Given the description of an element on the screen output the (x, y) to click on. 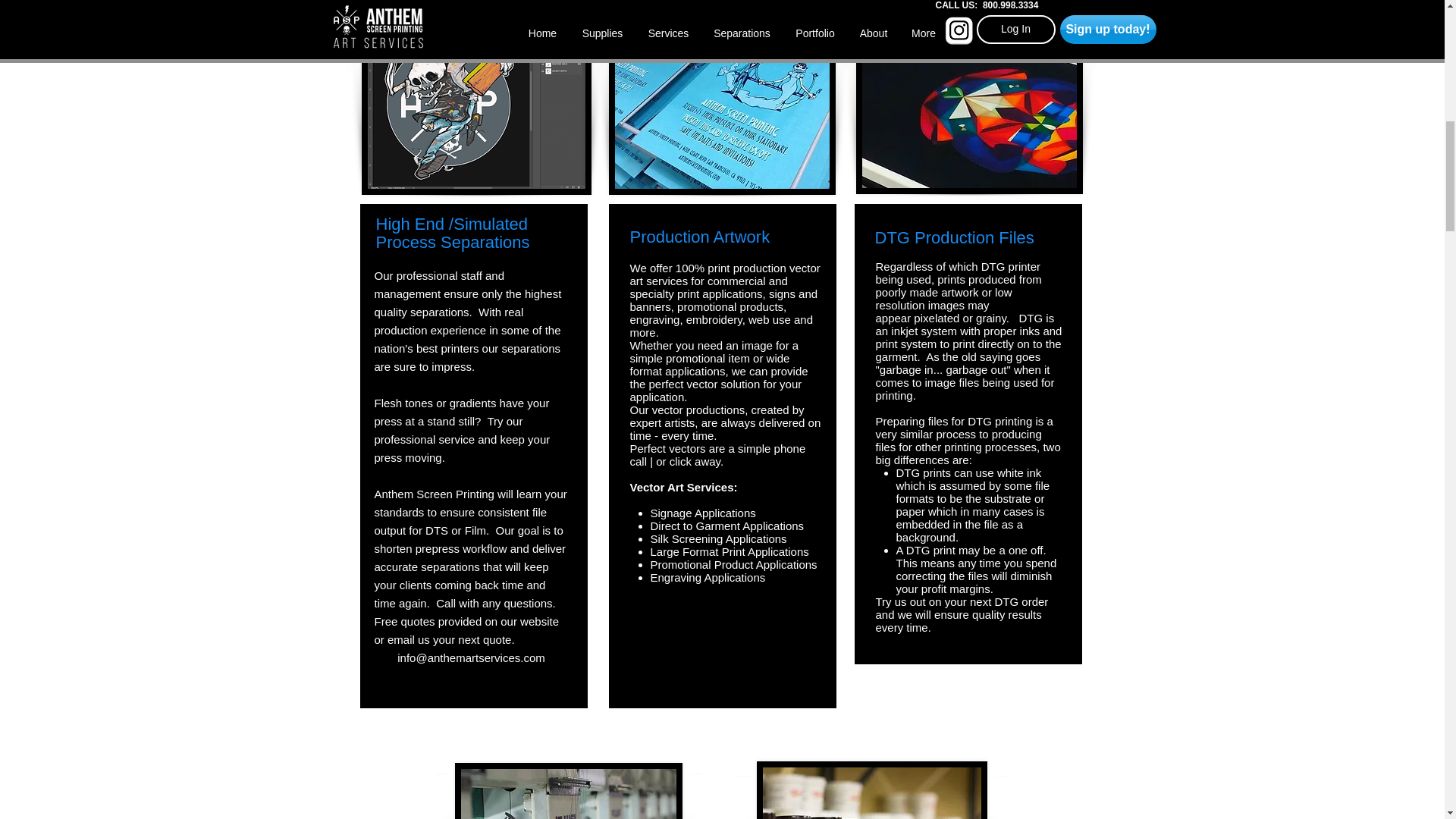
Large Format Print Applications (729, 551)
Engraving Applications (707, 576)
Direct to Garment Applications (727, 525)
Signage Applications (702, 512)
Silk Screening Applications (718, 538)
Promotional Product Applications (733, 563)
